Given the description of an element on the screen output the (x, y) to click on. 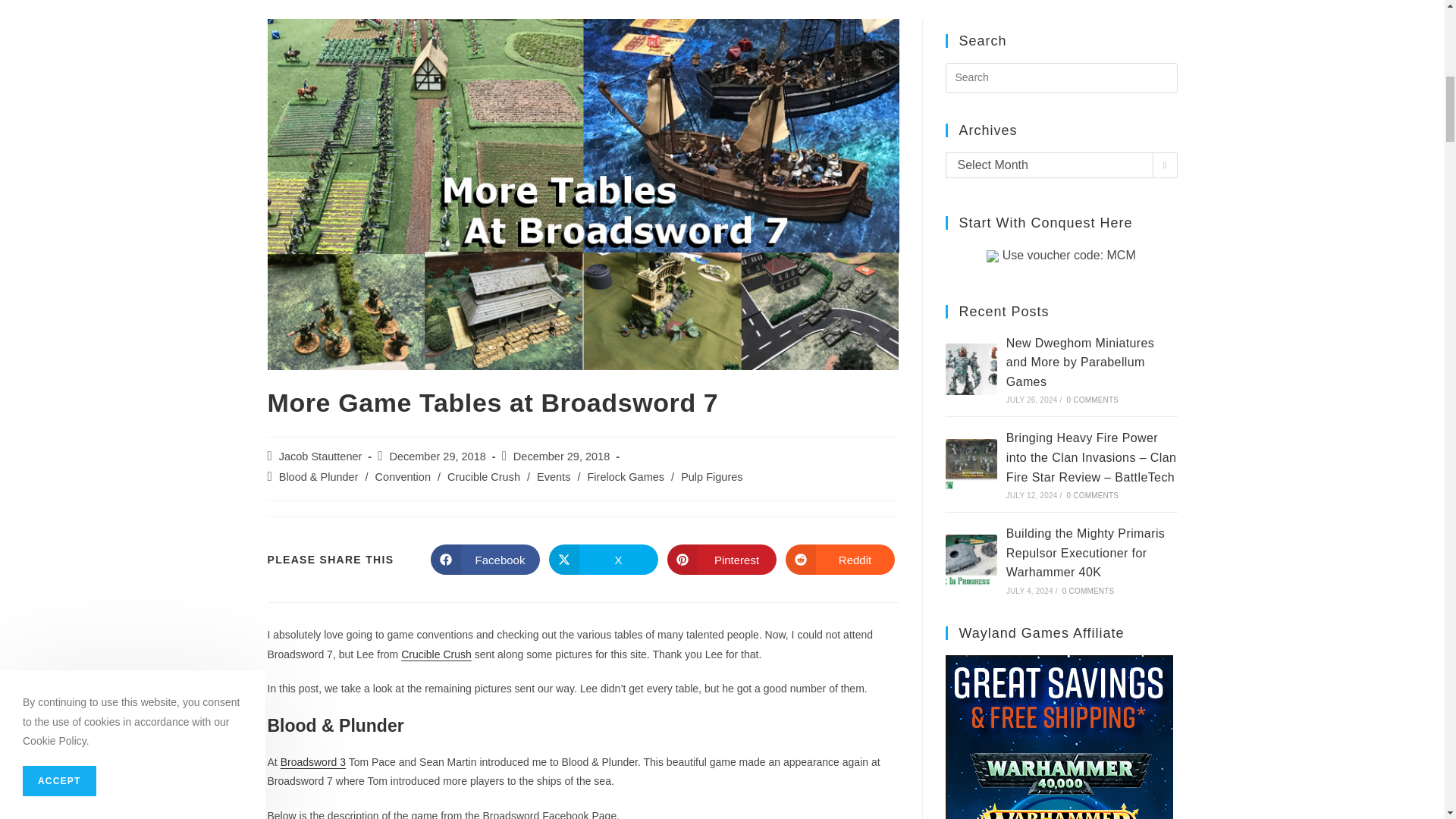
New Dweghom Miniatures and More by Parabellum Games (969, 368)
Posts by Jacob Stauttener (320, 456)
